Given the description of an element on the screen output the (x, y) to click on. 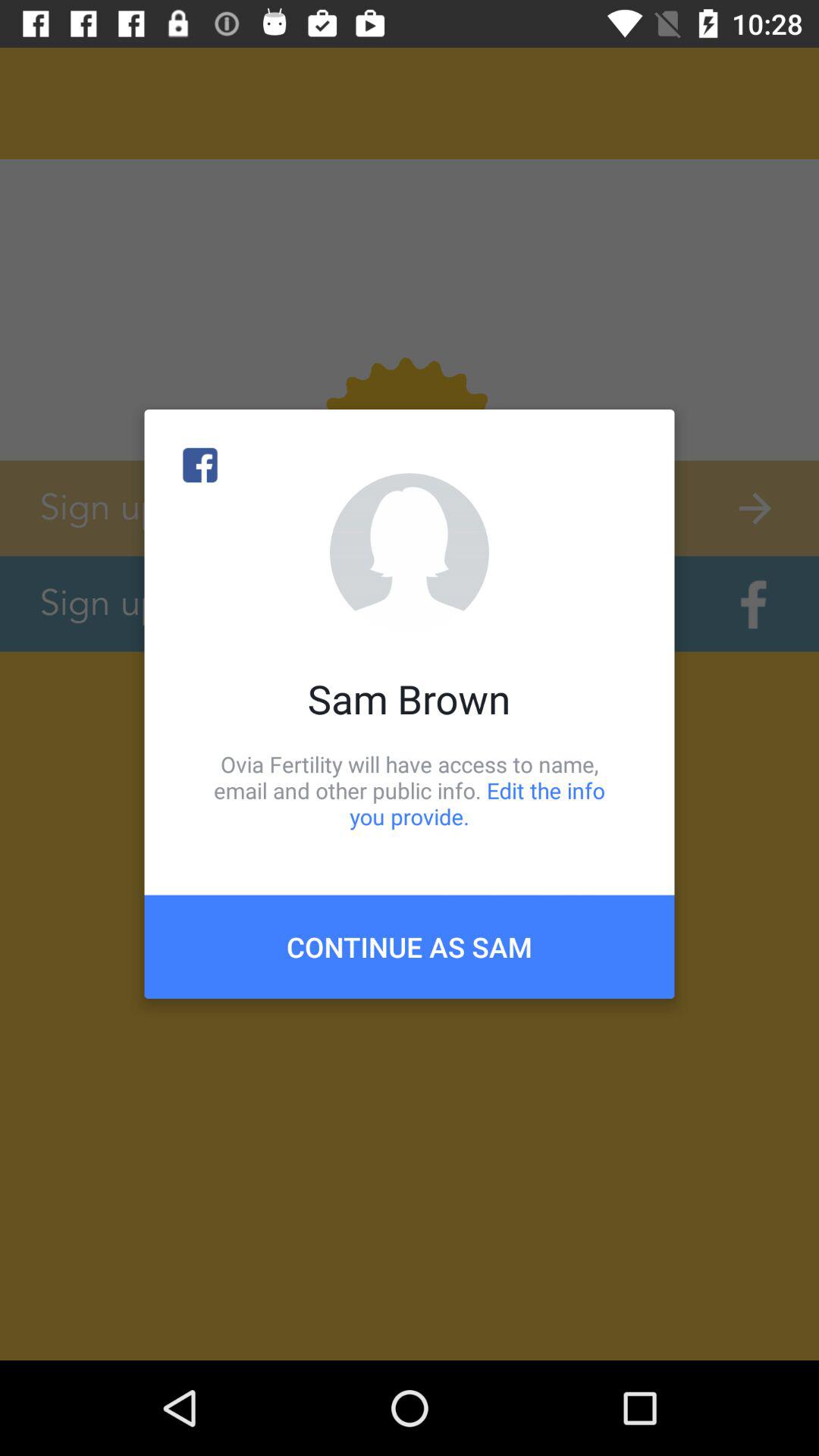
jump until the continue as sam item (409, 946)
